Given the description of an element on the screen output the (x, y) to click on. 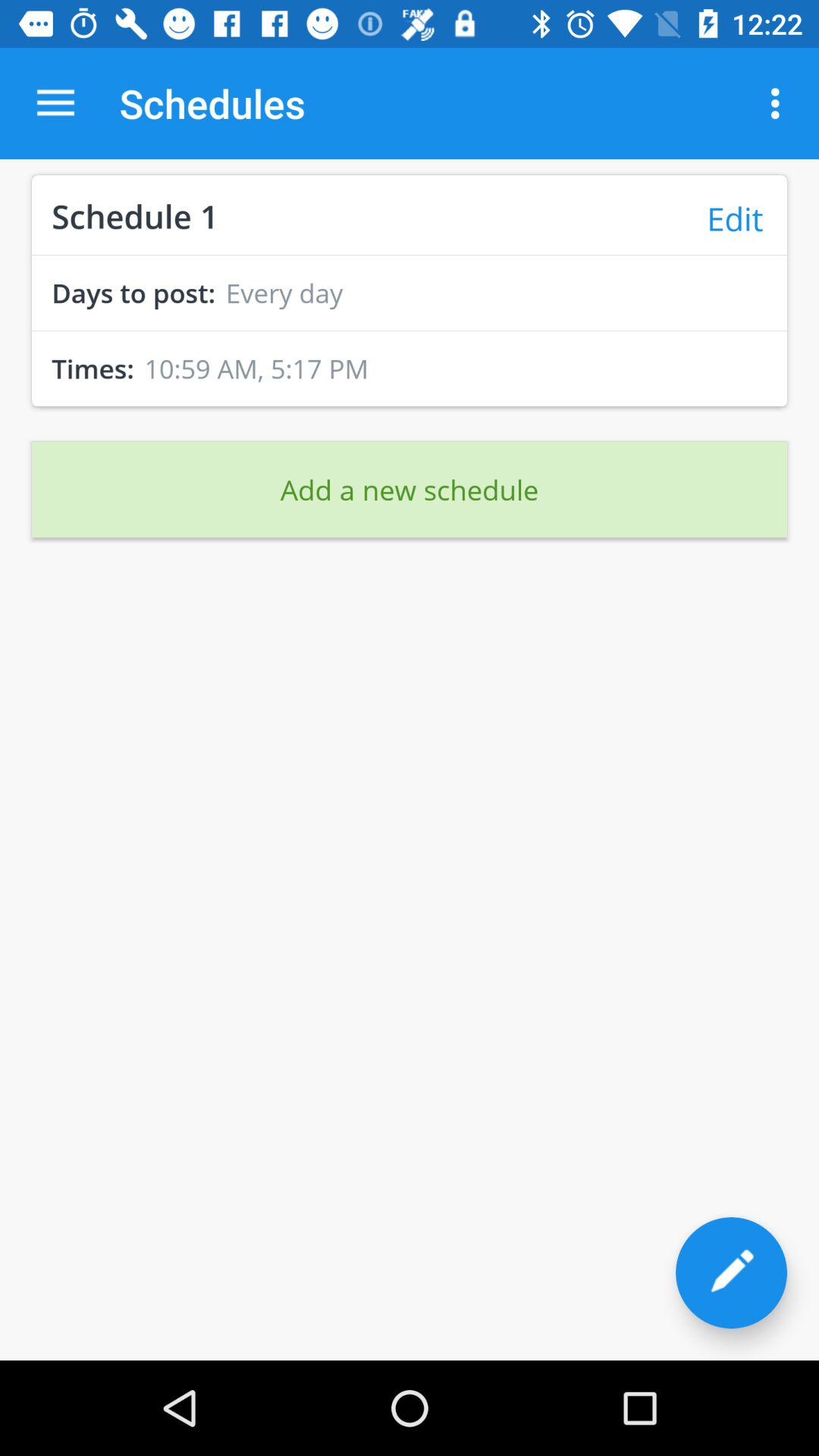
turn on the item to the left of the schedules icon (55, 103)
